Given the description of an element on the screen output the (x, y) to click on. 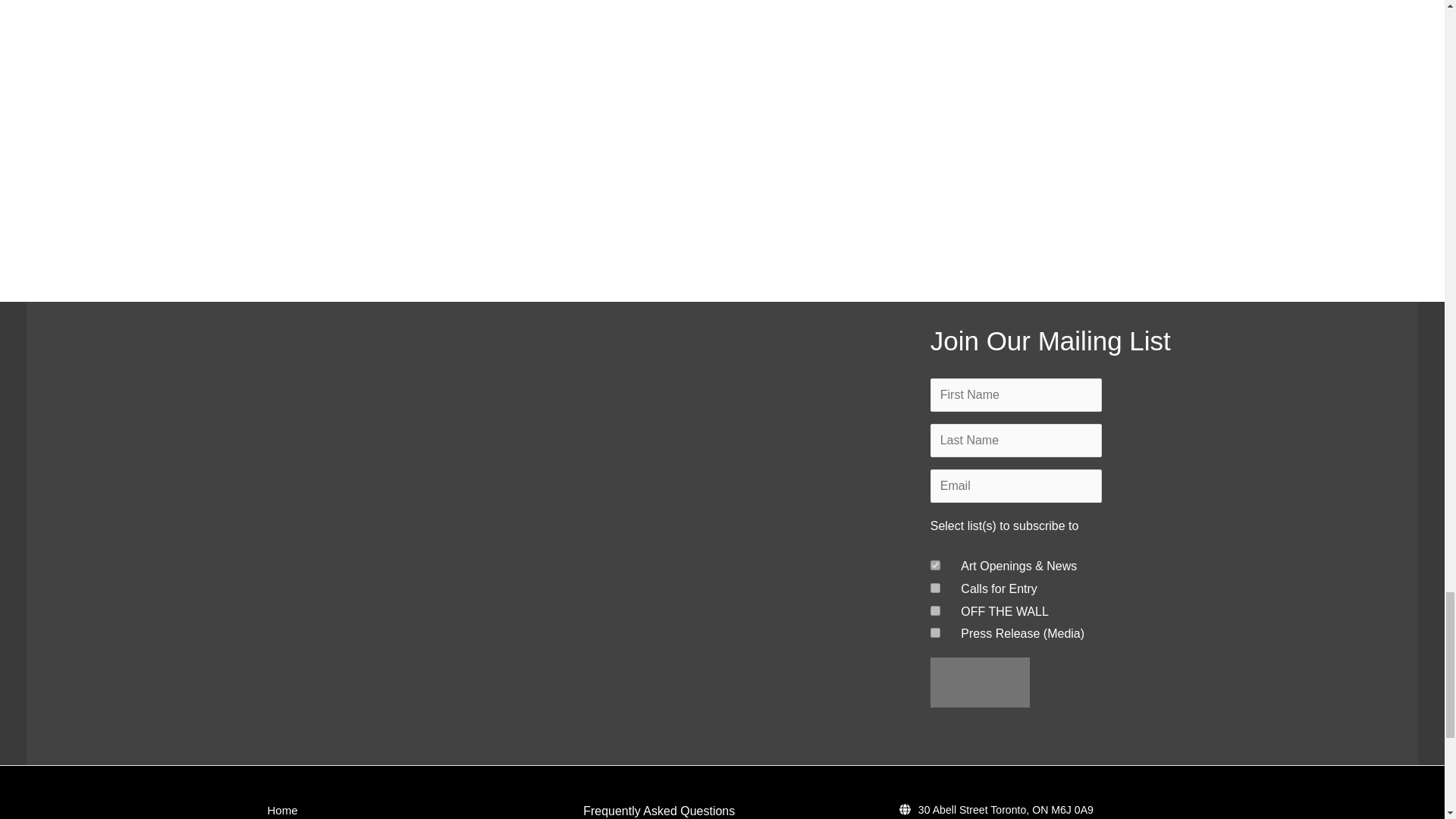
3d68077c-afbf-11ed-b17a-fa163e13150e (935, 587)
4ea38d90-afbf-11ed-8ac9-fa163e72f71d (935, 610)
ee13daac-aee2-11ed-b70e-fa163e56233d (935, 565)
8d19ff74-b3b5-11ed-9391-fa163e13150e (935, 633)
Subscribe (979, 682)
